Given the description of an element on the screen output the (x, y) to click on. 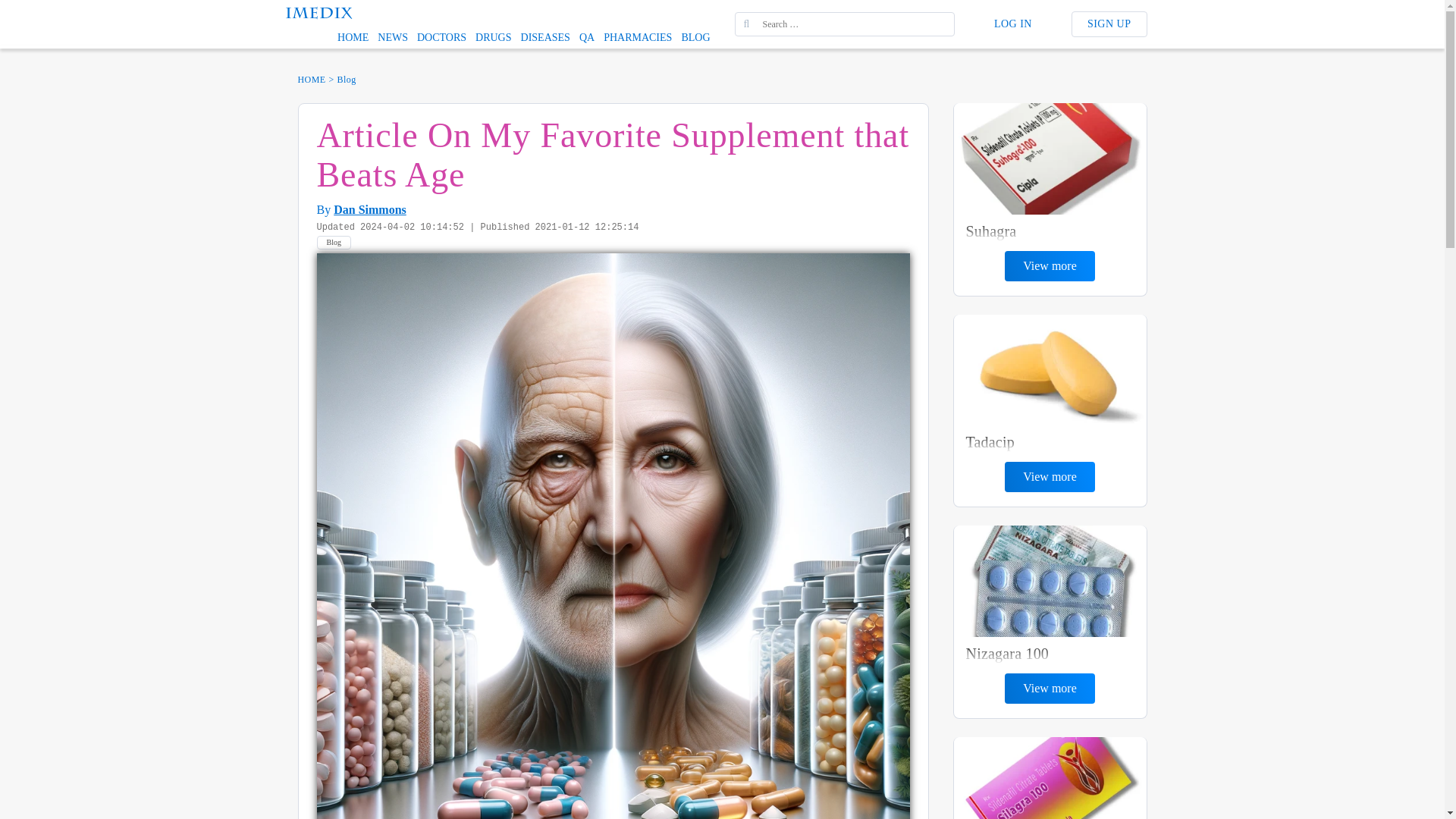
QA (586, 37)
Dan Simmons (369, 209)
Blog (333, 242)
PHARMACIES (637, 37)
Search (22, 8)
HOME (310, 78)
NEWS (392, 37)
iMedix: Your Personal Health Advisor. (318, 10)
LOG IN (1012, 24)
HOME (352, 37)
BLOG (695, 37)
SIGN UP (1109, 23)
Blog (346, 78)
DRUGS (493, 37)
DOCTORS (440, 37)
